Given the description of an element on the screen output the (x, y) to click on. 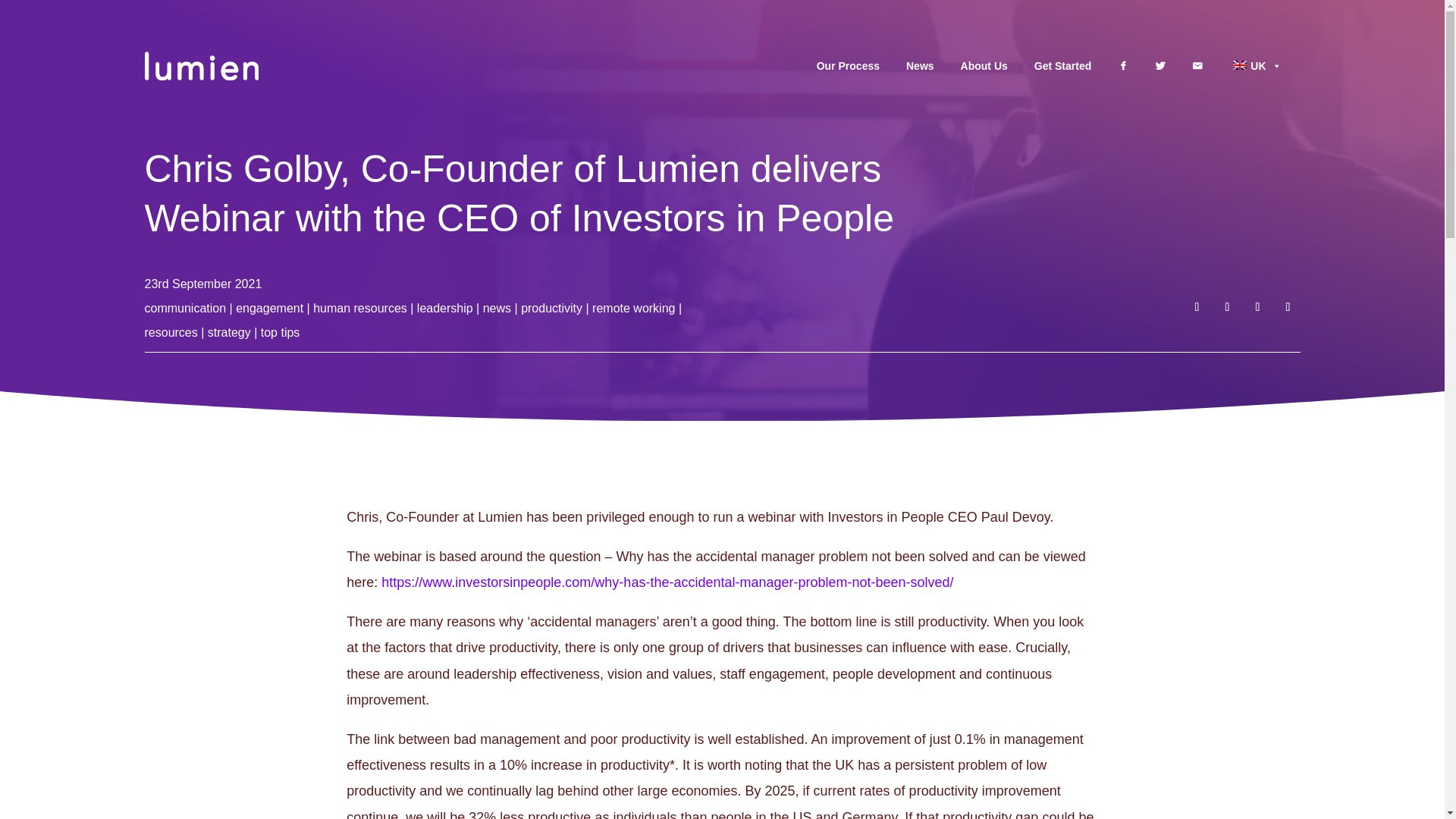
Follow on Twitter (1226, 306)
English (1239, 64)
human resources (360, 308)
engagement (268, 308)
Our Process (847, 65)
communication (184, 308)
About Us (983, 65)
UK (1254, 65)
top tips (279, 332)
news (497, 308)
